Given the description of an element on the screen output the (x, y) to click on. 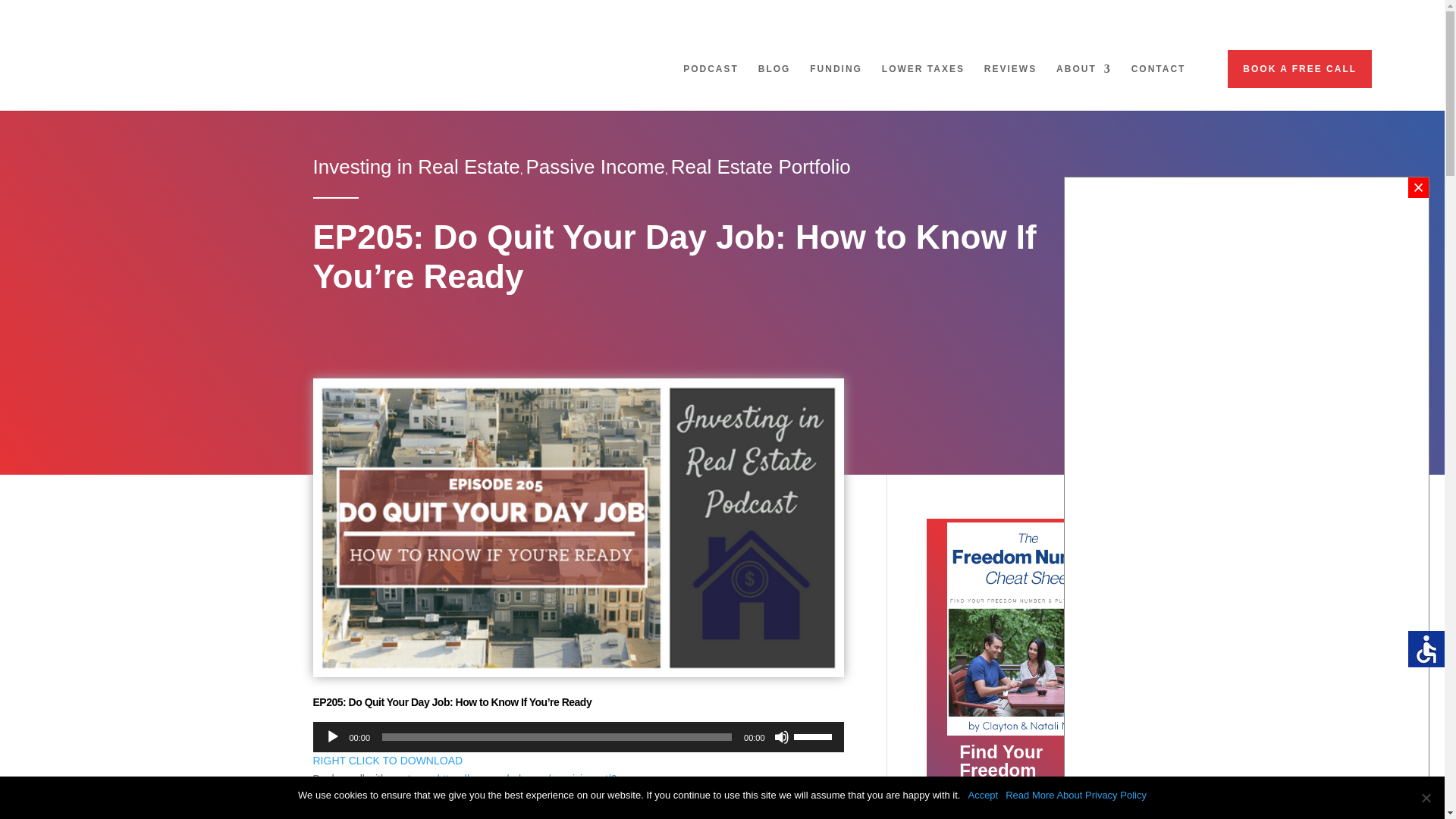
LOWER TAXES (922, 81)
No (1425, 797)
CONTACT (1158, 81)
BLOG (774, 81)
ABOUT (1084, 81)
FUNDING (835, 81)
PODCAST (710, 81)
BOOK A FREE CALL (1299, 68)
REVIEWS (1010, 81)
